Given the description of an element on the screen output the (x, y) to click on. 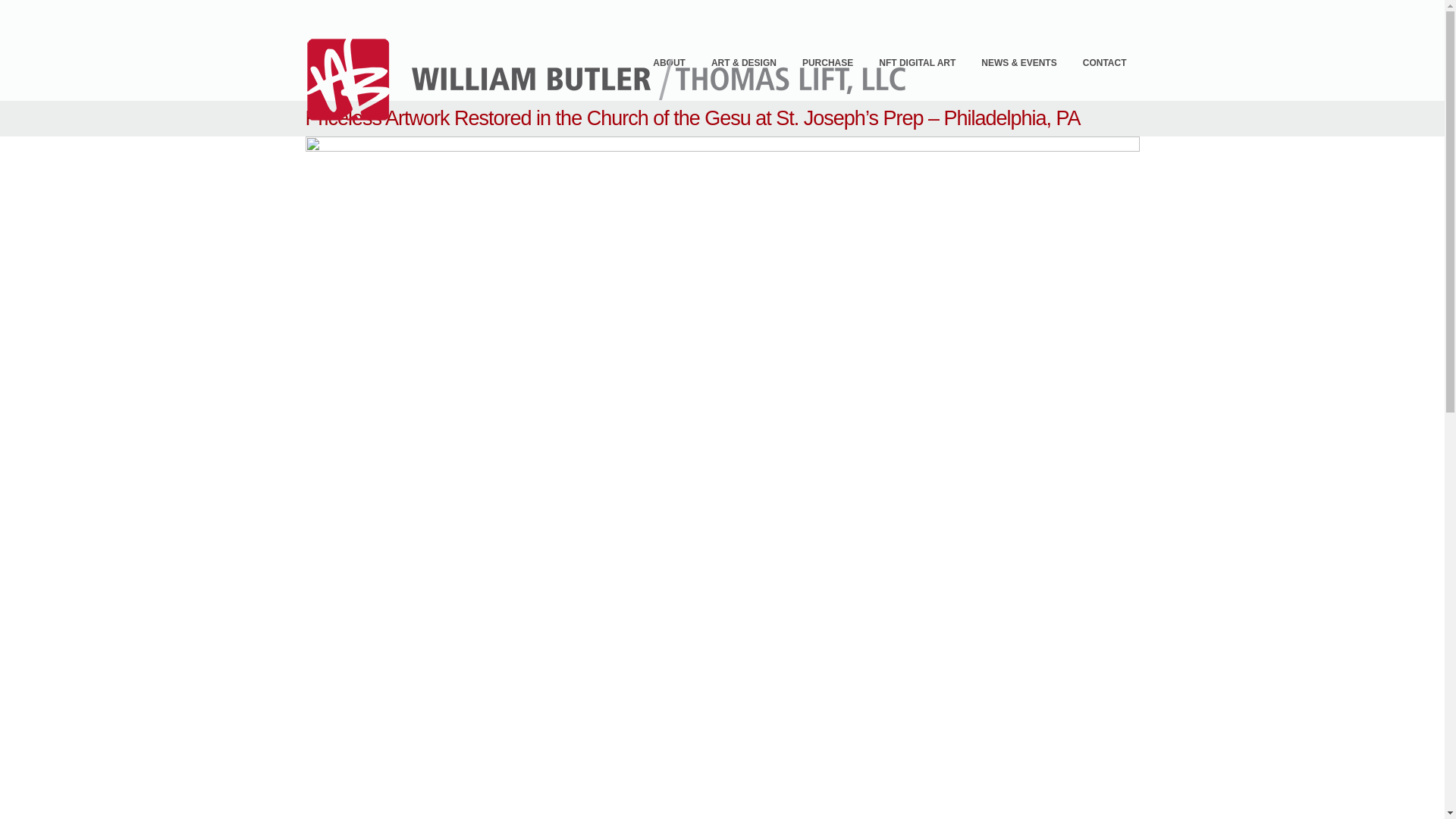
PURCHASE (827, 62)
CONTACT (1105, 62)
NFT DIGITAL ART (917, 62)
